Given the description of an element on the screen output the (x, y) to click on. 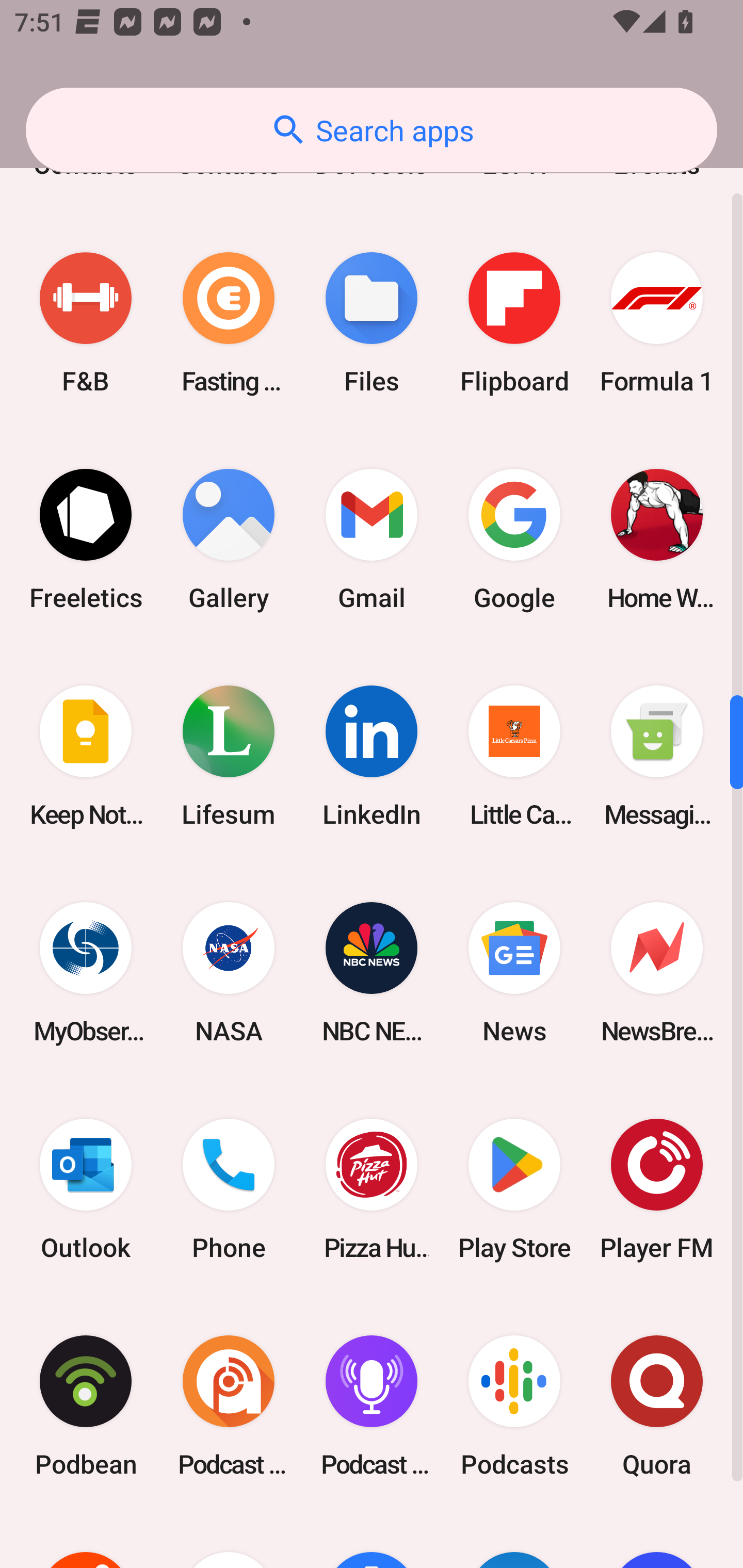
  Search apps (371, 130)
F&B (85, 322)
Fasting Coach (228, 322)
Files (371, 322)
Flipboard (514, 322)
Formula 1 (656, 322)
Freeletics (85, 539)
Gallery (228, 539)
Gmail (371, 539)
Google (514, 539)
Home Workout (656, 539)
Keep Notes (85, 755)
Lifesum (228, 755)
LinkedIn (371, 755)
Little Caesars Pizza (514, 755)
Messaging (656, 755)
MyObservatory (85, 971)
NASA (228, 971)
NBC NEWS (371, 971)
News (514, 971)
NewsBreak (656, 971)
Outlook (85, 1189)
Phone (228, 1189)
Pizza Hut HK & Macau (371, 1189)
Play Store (514, 1189)
Player FM (656, 1189)
Podbean (85, 1406)
Podcast Addict (228, 1406)
Podcast Player (371, 1406)
Podcasts (514, 1406)
Quora (656, 1406)
